Given the description of an element on the screen output the (x, y) to click on. 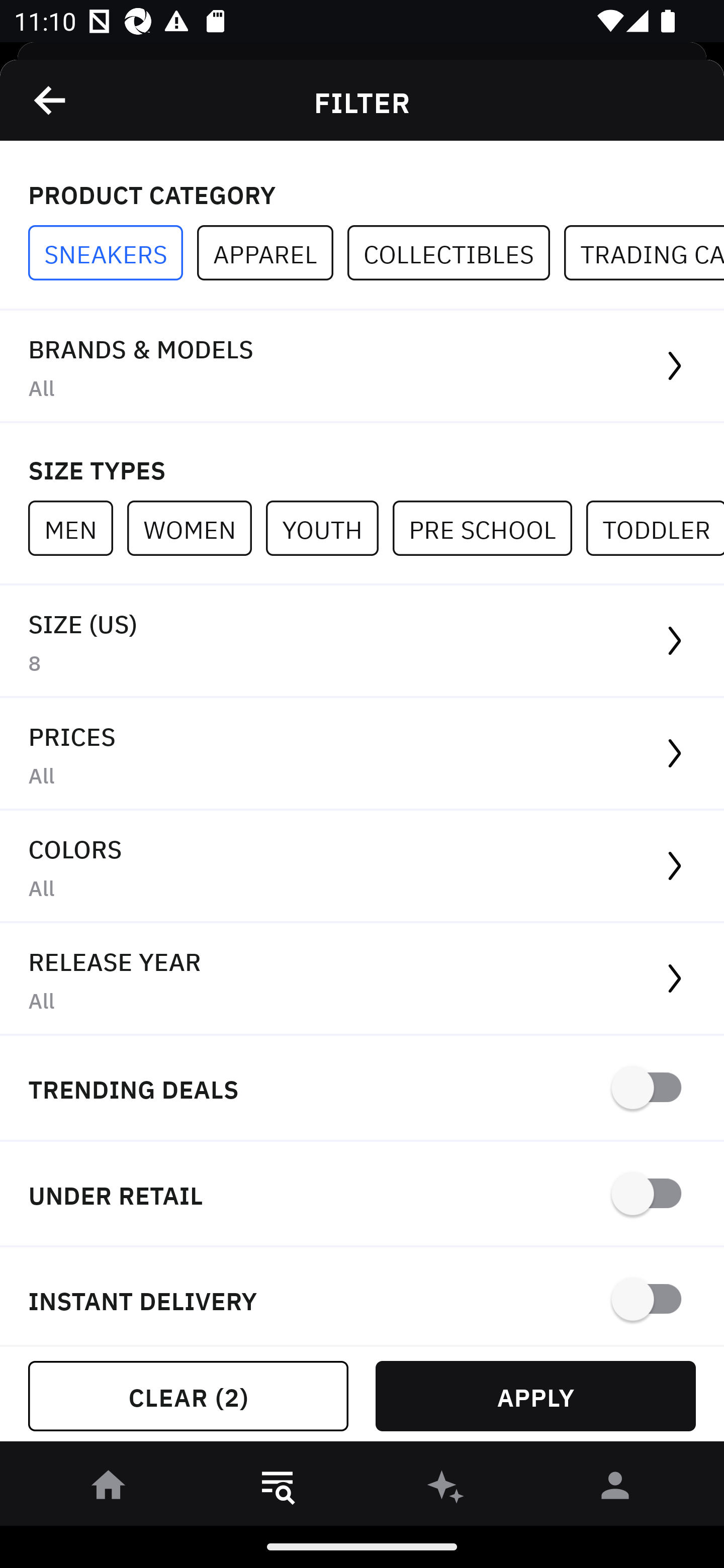
 (50, 100)
SNEAKERS (112, 252)
APPAREL (271, 252)
COLLECTIBLES (455, 252)
TRADING CARDS (643, 252)
BRANDS & MODELS All (362, 366)
MEN (77, 527)
WOMEN (196, 527)
YOUTH (328, 527)
PRE SCHOOL (489, 527)
TODDLER (655, 527)
SIZE (US) 8 (362, 640)
PRICES All (362, 753)
COLORS All (362, 866)
RELEASE YEAR All (362, 979)
TRENDING DEALS (362, 1088)
UNDER RETAIL (362, 1194)
INSTANT DELIVERY (362, 1296)
CLEAR (2) (188, 1396)
APPLY (535, 1396)
󰋜 (108, 1488)
󱎸 (277, 1488)
󰫢 (446, 1488)
󰀄 (615, 1488)
